Given the description of an element on the screen output the (x, y) to click on. 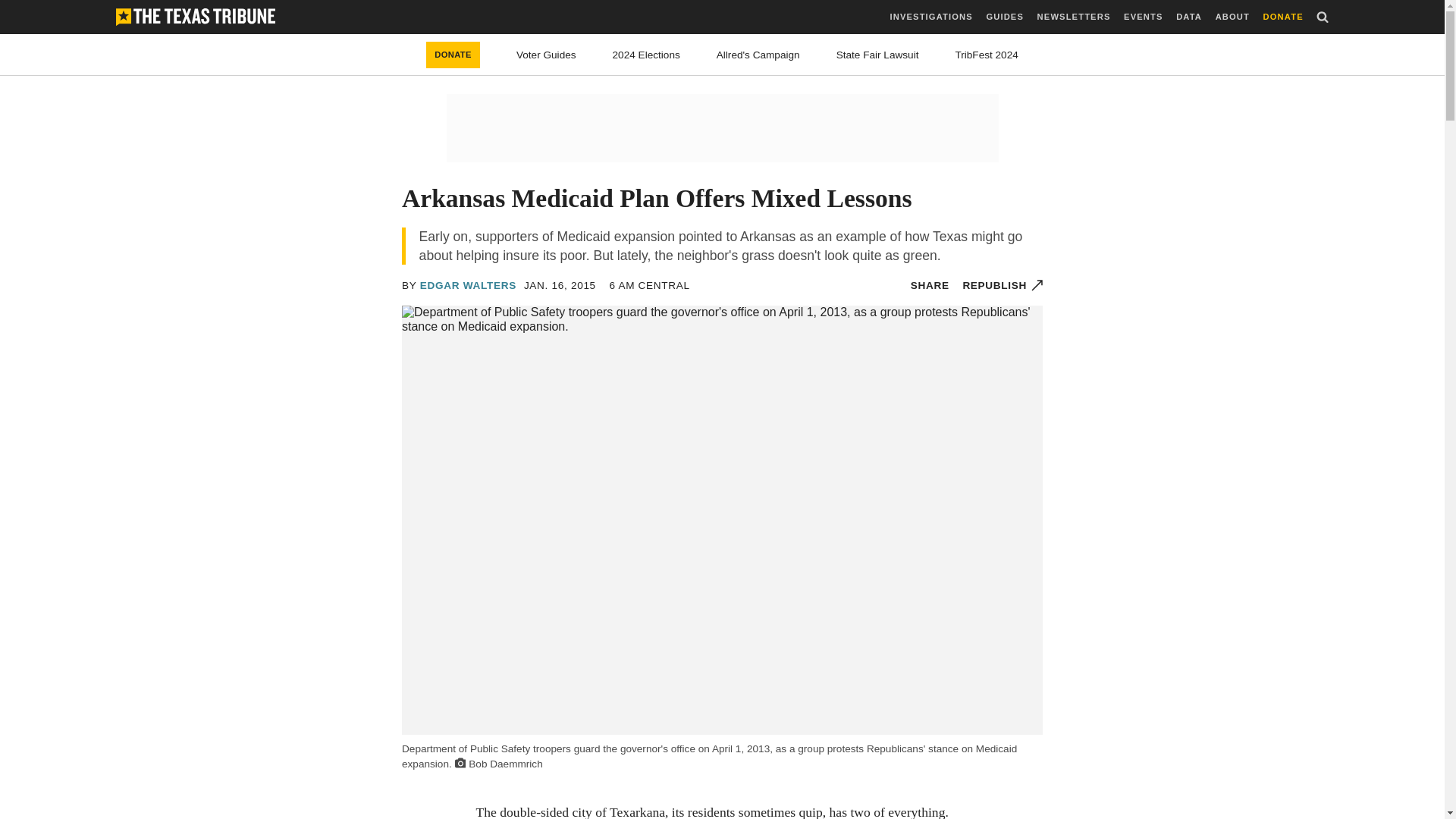
TribFest 2024 (986, 54)
DONATE (453, 54)
Voter Guides (546, 54)
2024 Elections (645, 54)
2015-01-16 06:00 CST (648, 285)
EVENTS (1142, 17)
INVESTIGATIONS (930, 17)
ABOUT (1232, 17)
GUIDES (1004, 17)
EDGAR WALTERS (468, 285)
